Given the description of an element on the screen output the (x, y) to click on. 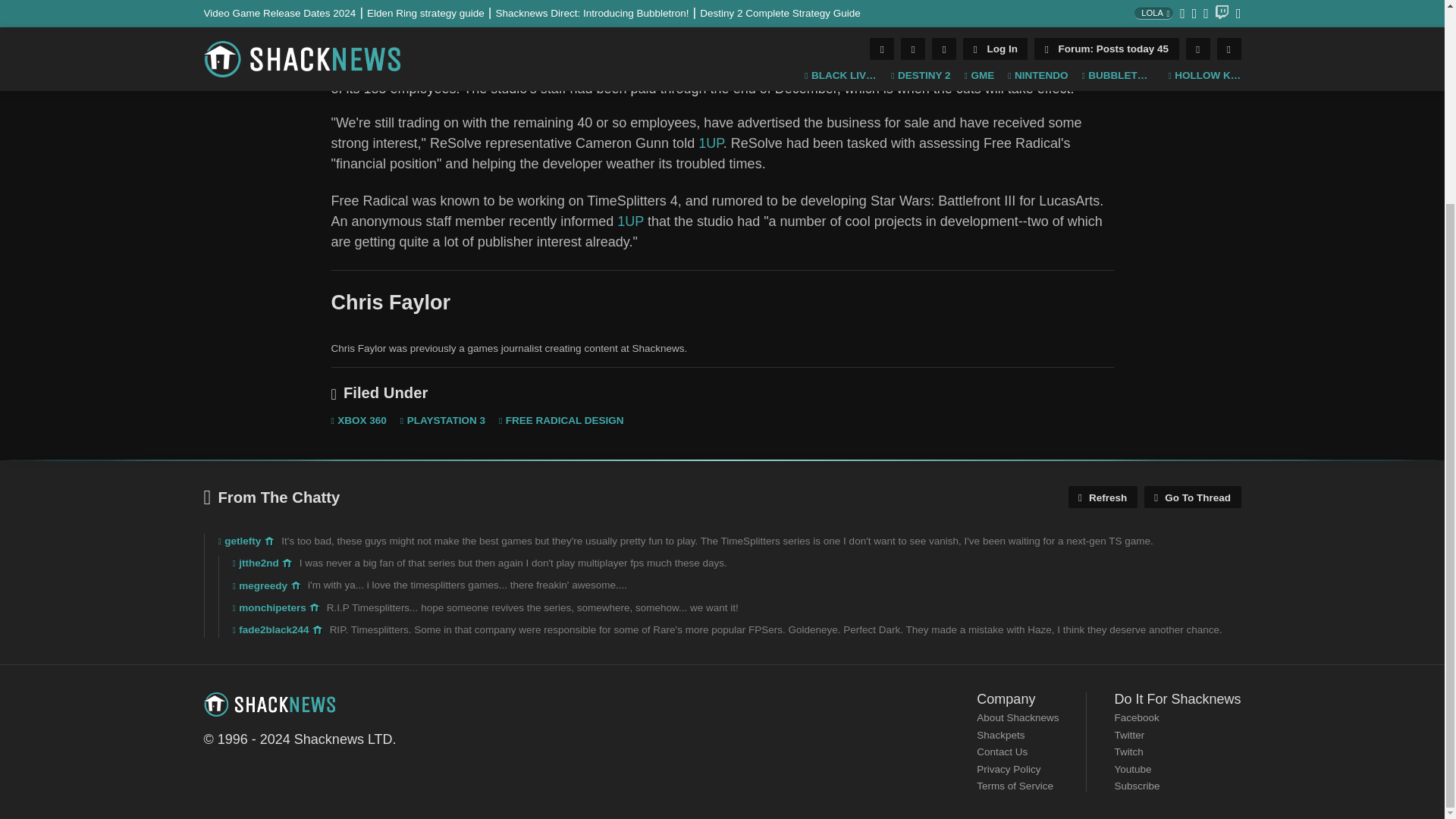
21 (612, 16)
legacy 10 years (287, 562)
legacy 10 years (269, 541)
legacy 10 years (318, 629)
legacy 10 years (296, 585)
Chris Faylor (362, 15)
legacy 10 years (314, 607)
